Given the description of an element on the screen output the (x, y) to click on. 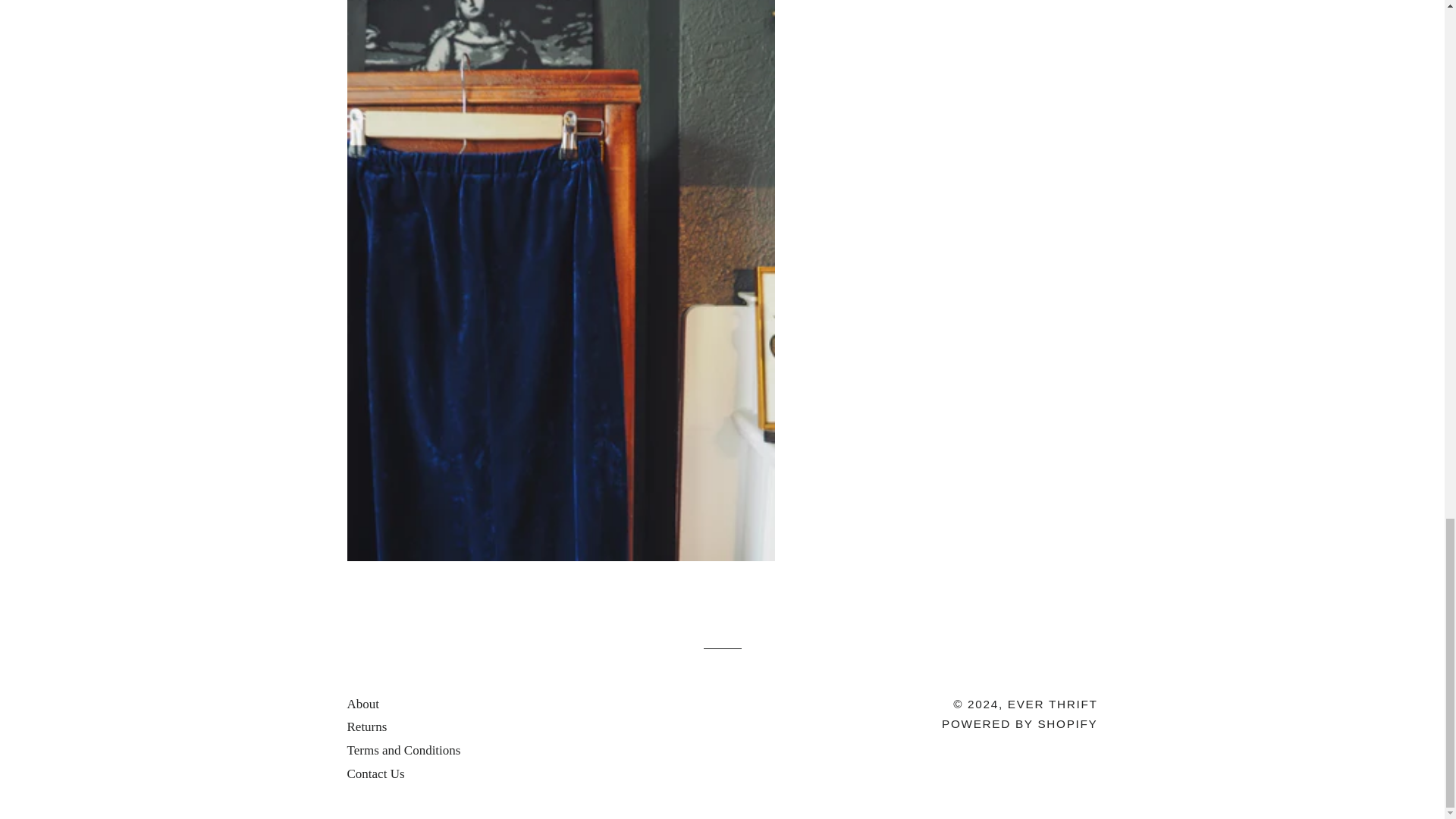
POWERED BY SHOPIFY (1019, 723)
Returns (367, 726)
About (363, 703)
Contact Us (375, 773)
EVER THRIFT (1052, 703)
Terms and Conditions (404, 749)
